Given the description of an element on the screen output the (x, y) to click on. 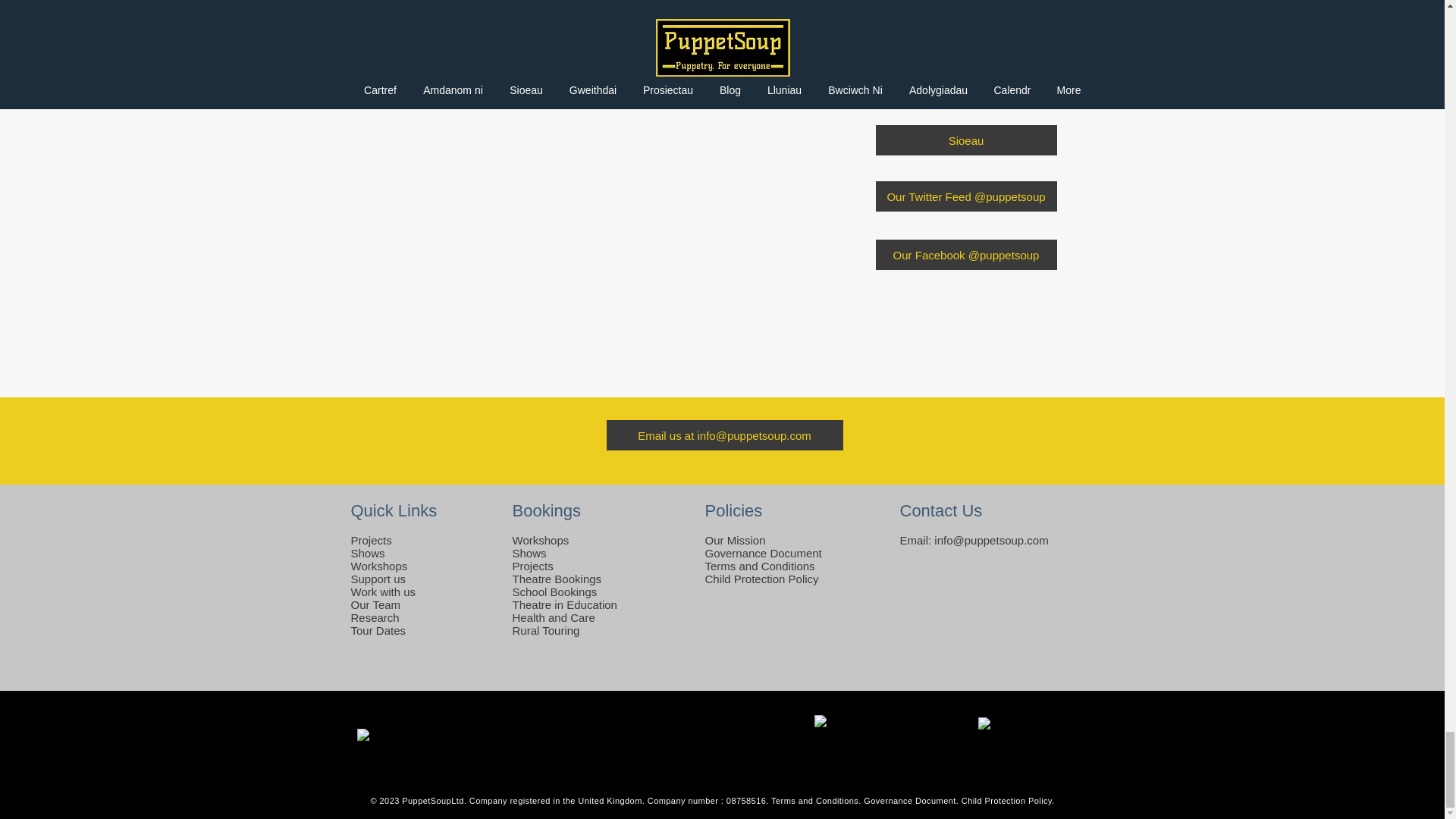
Child Protection Policy (761, 578)
Theatre Bookings (557, 578)
Workshops (540, 540)
Support us (378, 578)
Terms and Conditions (759, 565)
Research (374, 617)
Our Mission (734, 540)
Workshops (378, 565)
Sioeau (966, 140)
Shows (367, 553)
